Given the description of an element on the screen output the (x, y) to click on. 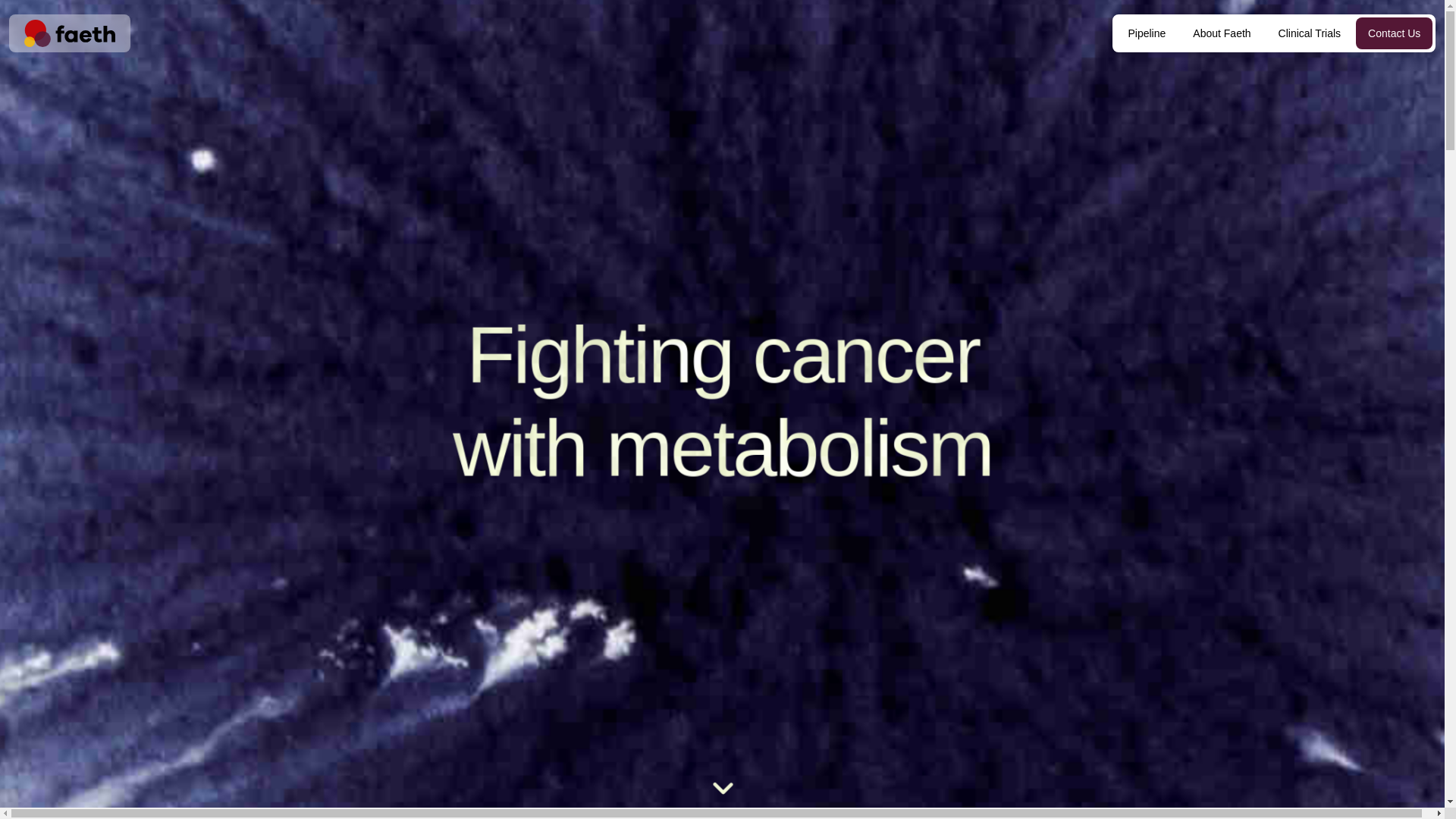
Clinical Trials (1309, 33)
About Faeth (1221, 33)
Contact Us (1393, 33)
Pipeline (1146, 33)
